Given the description of an element on the screen output the (x, y) to click on. 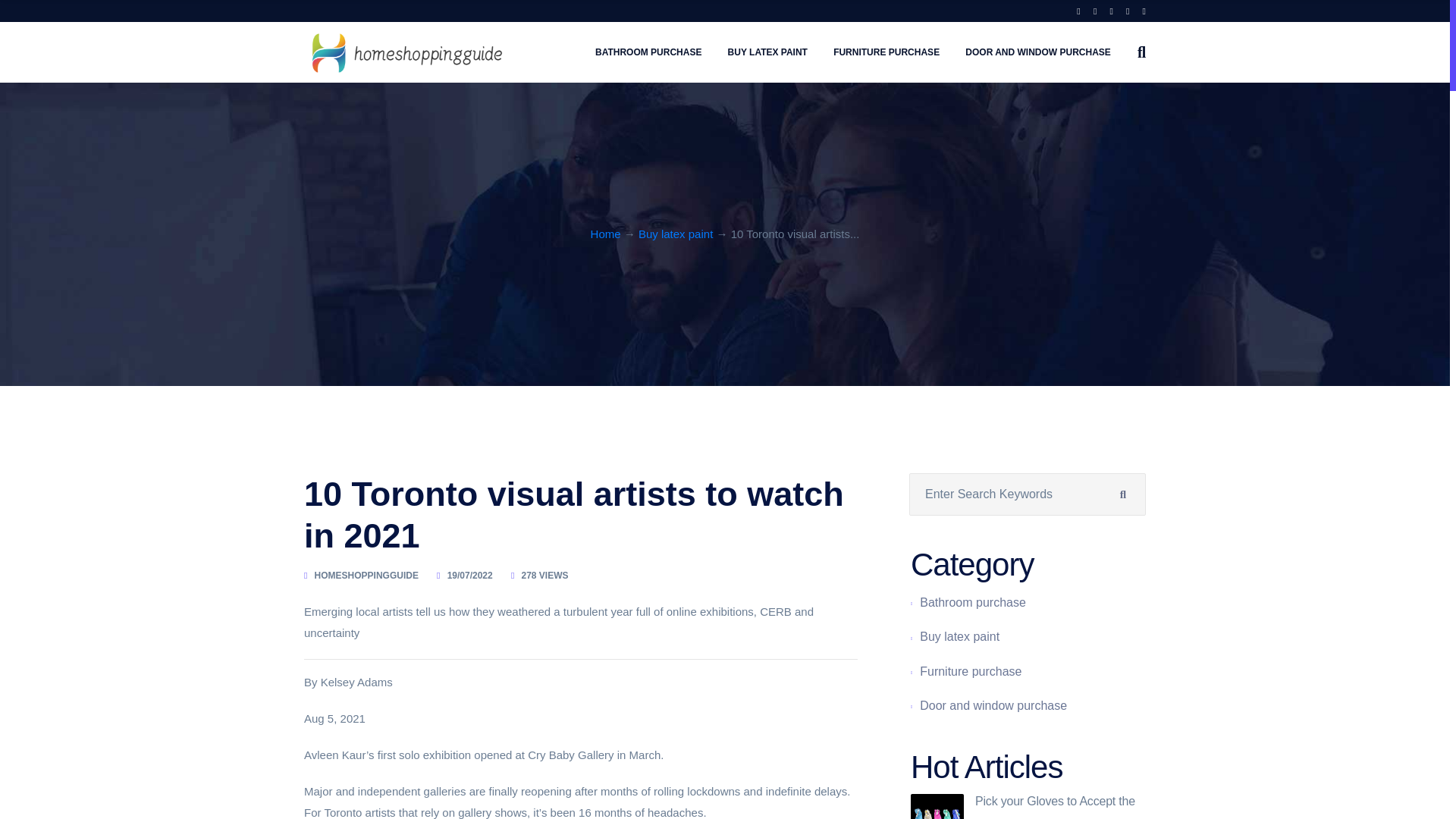
BATHROOM PURCHASE (648, 52)
Door and window purchase (993, 705)
Door and window purchase (1037, 52)
Bathroom purchase (973, 602)
10 Toronto visual artists to watch in 2021 (574, 515)
HOMESHOPPINGGUIDE (366, 575)
Bathroom purchase (648, 52)
Buy latex paint (959, 636)
Bathroom purchase (973, 602)
Pick your Gloves to Accept the Duel of the World (937, 806)
Furniture purchase (971, 671)
BUY LATEX PAINT (767, 52)
homeshoppingguide (405, 52)
Buy latex paint (959, 636)
Buy latex paint (767, 52)
